Given the description of an element on the screen output the (x, y) to click on. 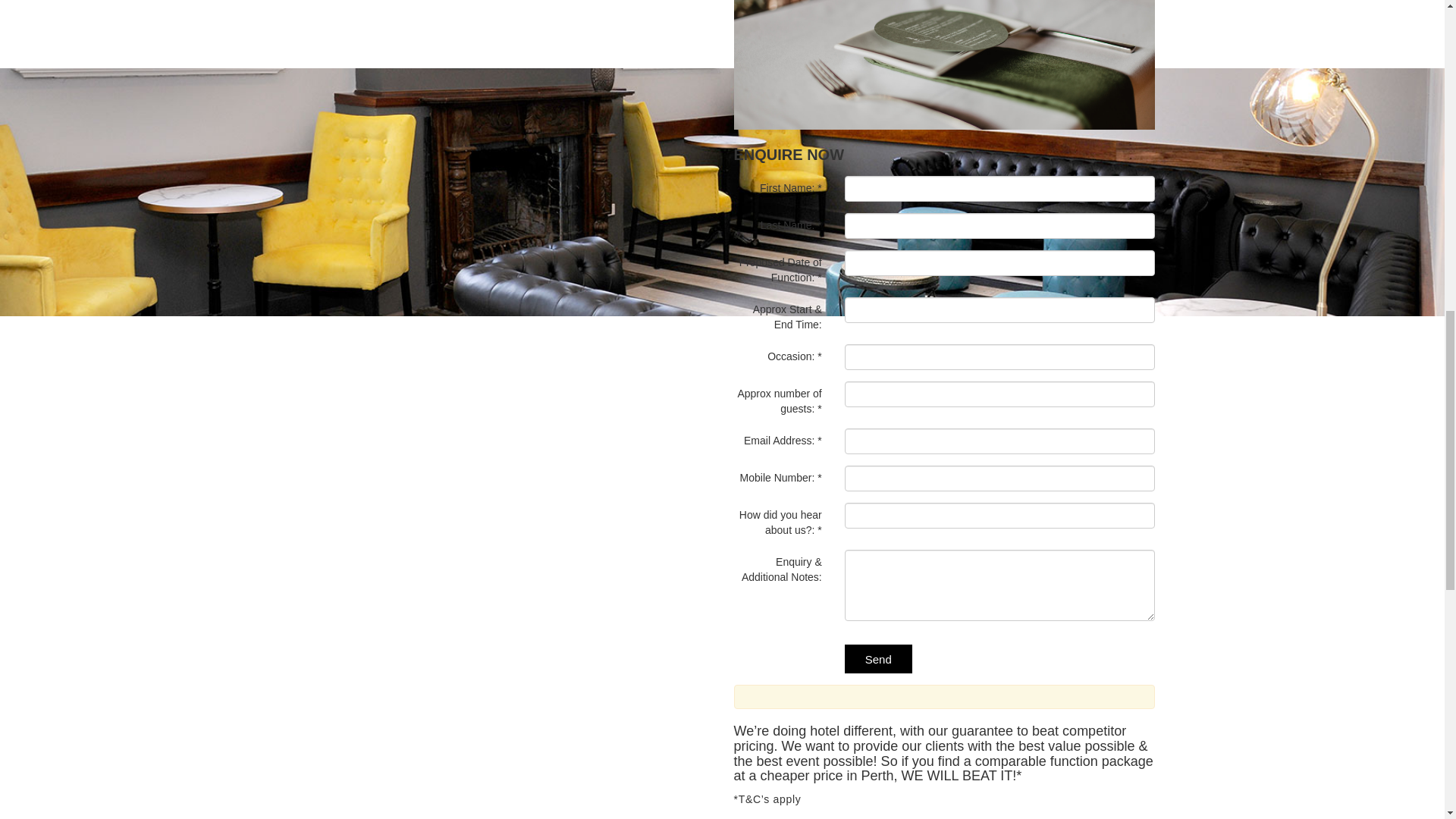
Send (878, 657)
